Given the description of an element on the screen output the (x, y) to click on. 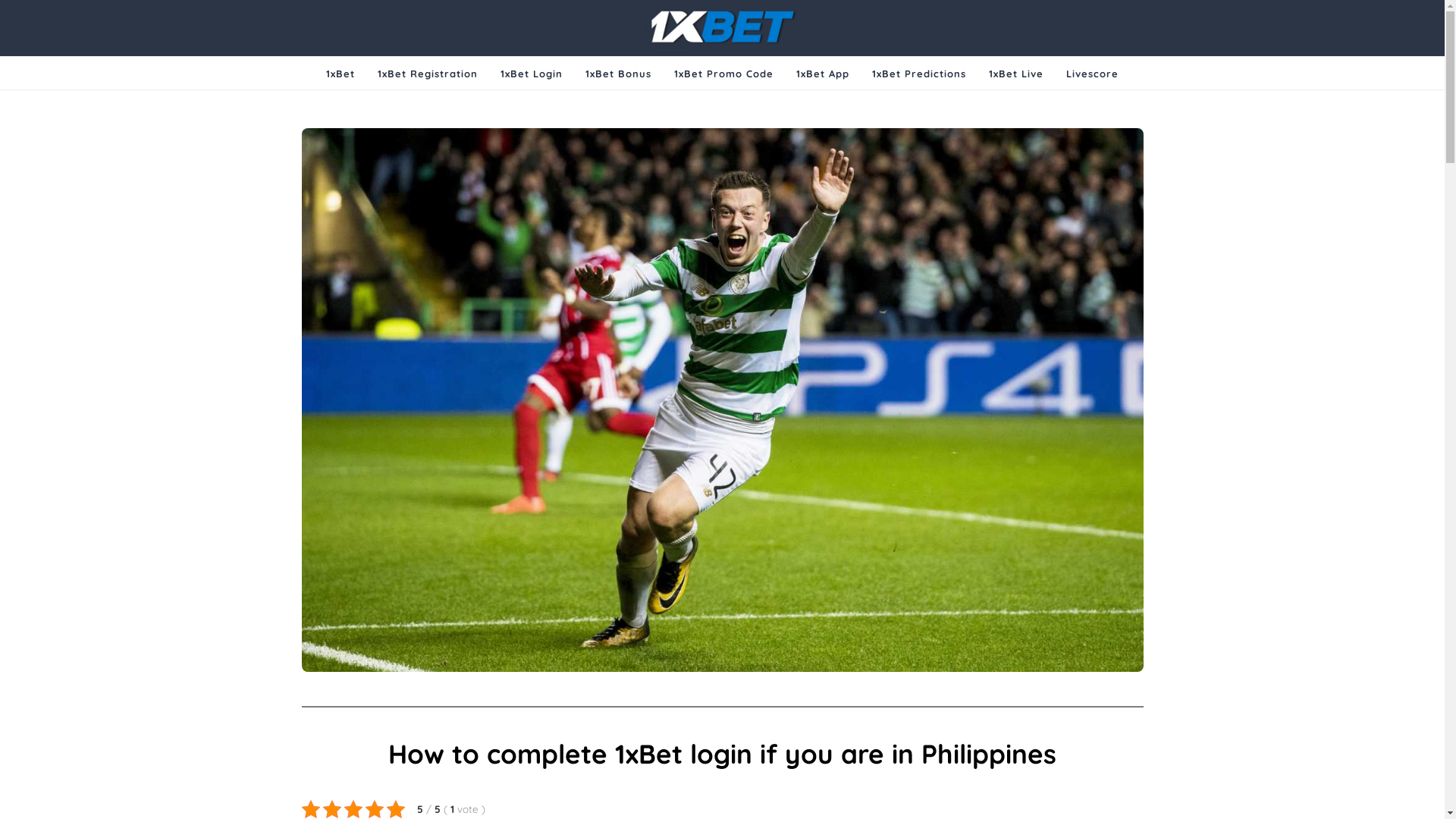
1xBet Login Element type: text (531, 74)
1xBet Live Element type: text (1015, 74)
1xBet Element type: text (340, 74)
1xBet Registration Element type: text (427, 74)
1xBet Promo Code Element type: text (723, 74)
1xBet App Element type: text (822, 74)
1xBet Bonus Element type: text (618, 74)
Livescore Element type: text (1091, 74)
1xBet Predictions Element type: text (918, 74)
